Given the description of an element on the screen output the (x, y) to click on. 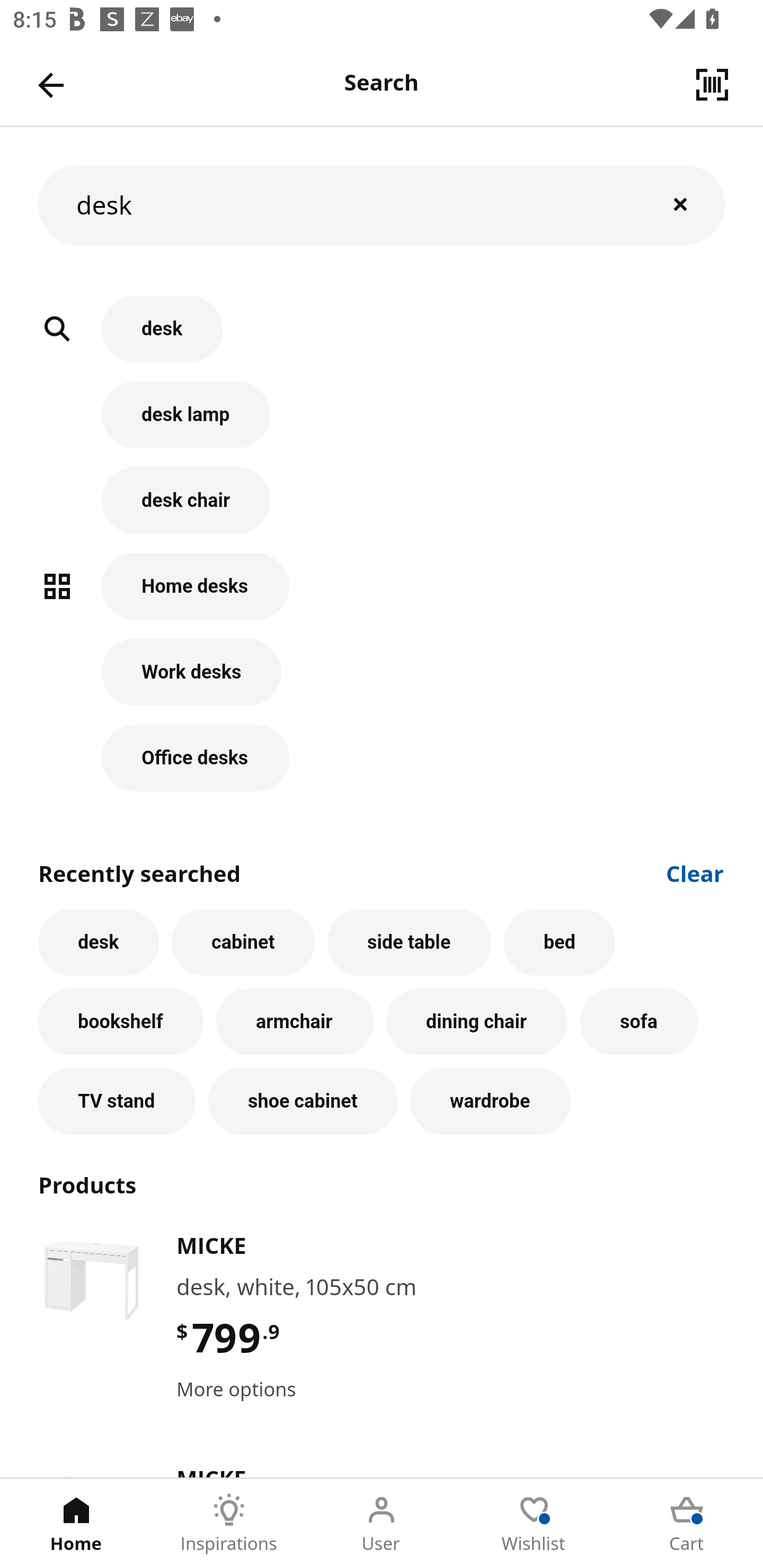
desk (381, 204)
desk (381, 338)
desk lamp (381, 424)
desk chair (381, 510)
Home desks (381, 595)
Work desks (381, 681)
Office desks (381, 757)
Clear (695, 872)
desk (98, 942)
cabinet (242, 942)
side table (409, 942)
bed (558, 942)
bookshelf (120, 1021)
armchair (294, 1021)
dining chair (476, 1021)
sofa (638, 1021)
TV stand (116, 1101)
shoe cabinet (302, 1101)
wardrobe (490, 1101)
Home
Tab 1 of 5 (76, 1522)
Inspirations
Tab 2 of 5 (228, 1522)
User
Tab 3 of 5 (381, 1522)
Wishlist
Tab 4 of 5 (533, 1522)
Cart
Tab 5 of 5 (686, 1522)
